Given the description of an element on the screen output the (x, y) to click on. 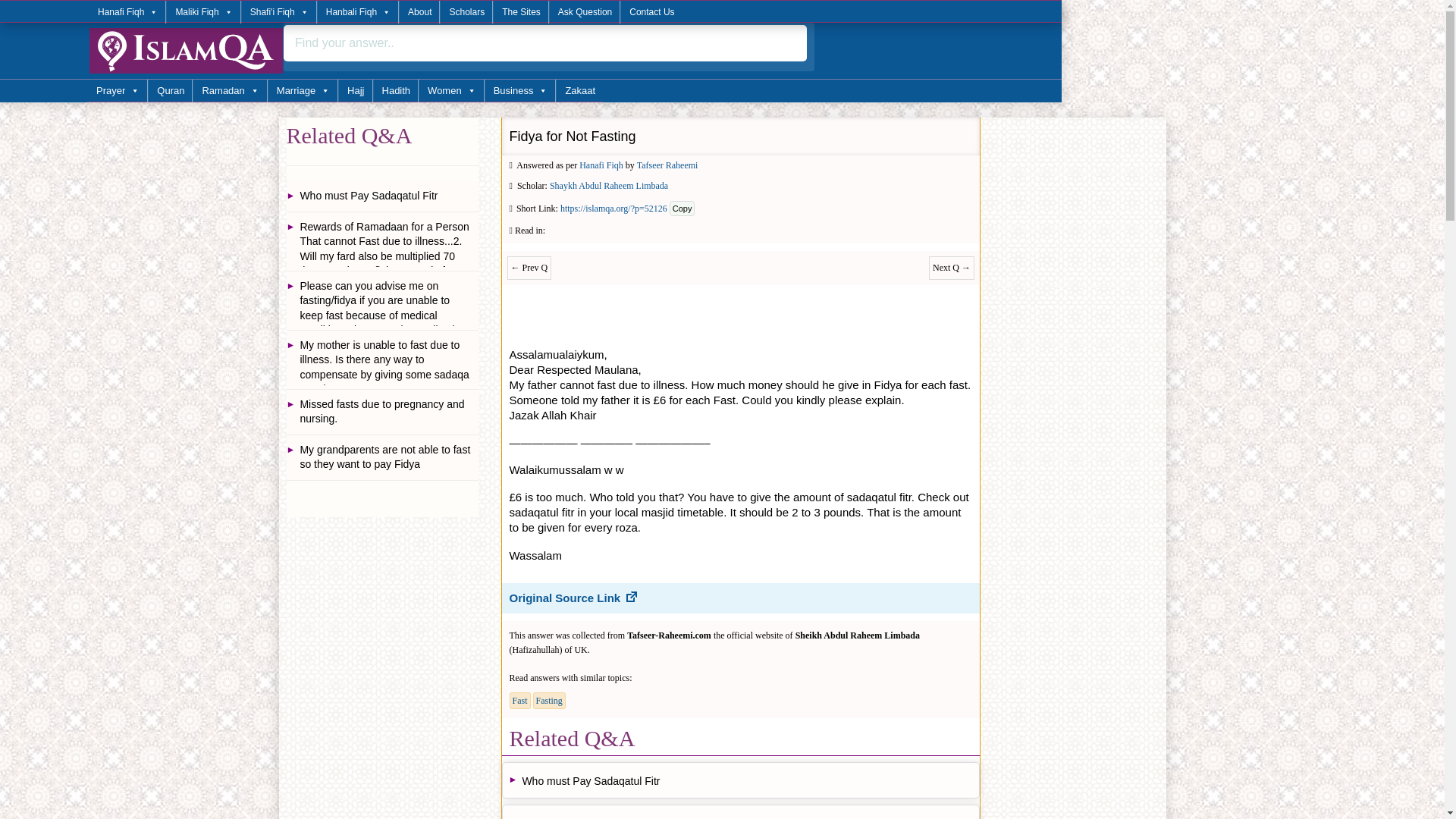
Shaykh Abdul Raheem Limbada (609, 185)
Hanafi Fiqh (126, 11)
Maliki Fiqh (202, 11)
